Given the description of an element on the screen output the (x, y) to click on. 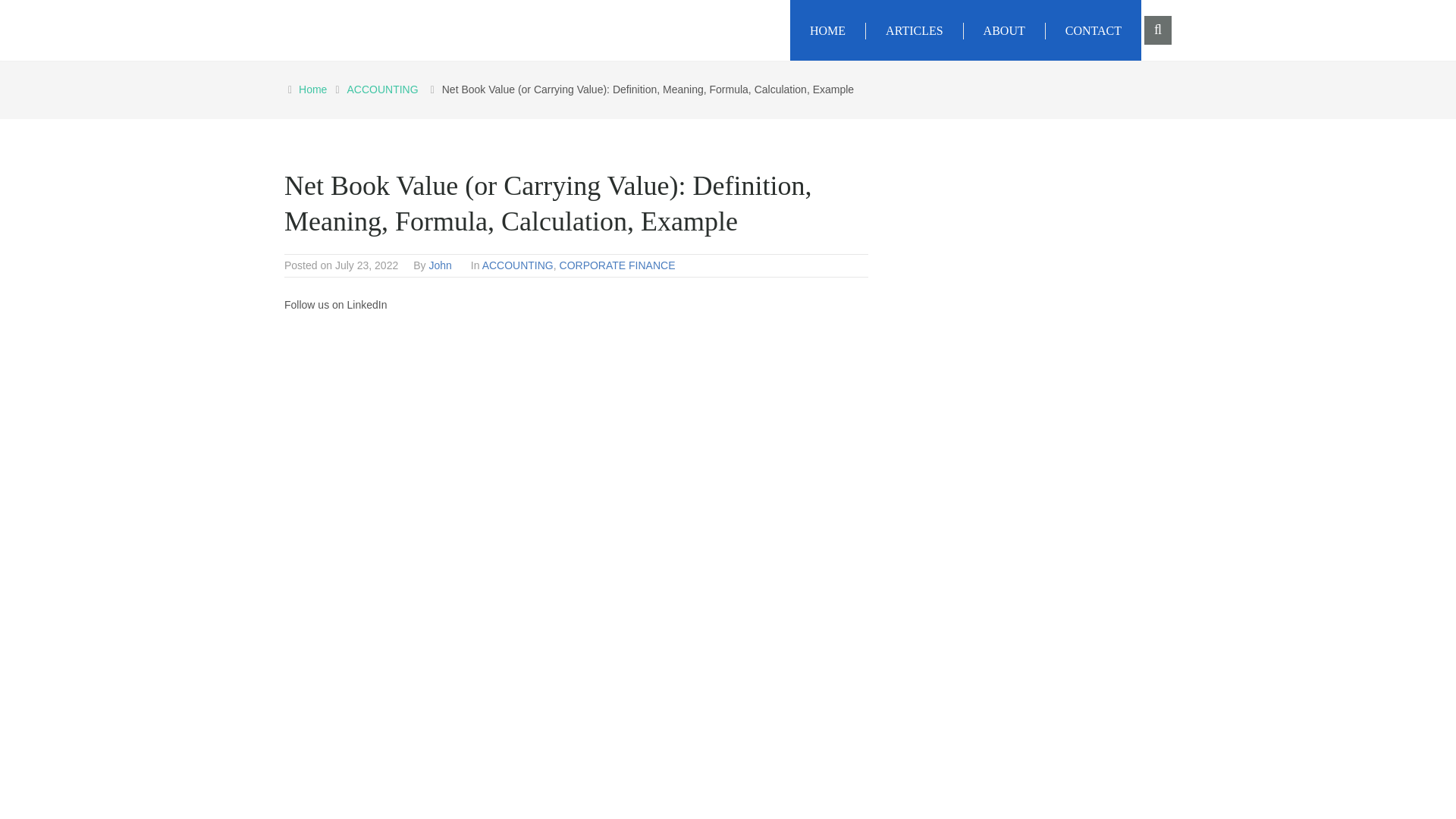
CORPORATE FINANCE (617, 265)
ACCOUNTING (517, 265)
John (439, 265)
HARBOURFRONT TECHNOLOGIES (491, 25)
CONTACT (1093, 30)
ARTICLES (914, 30)
HOME (828, 30)
Home (314, 89)
View all posts in CORPORATE FINANCE (617, 265)
Posts by John (439, 265)
